Given the description of an element on the screen output the (x, y) to click on. 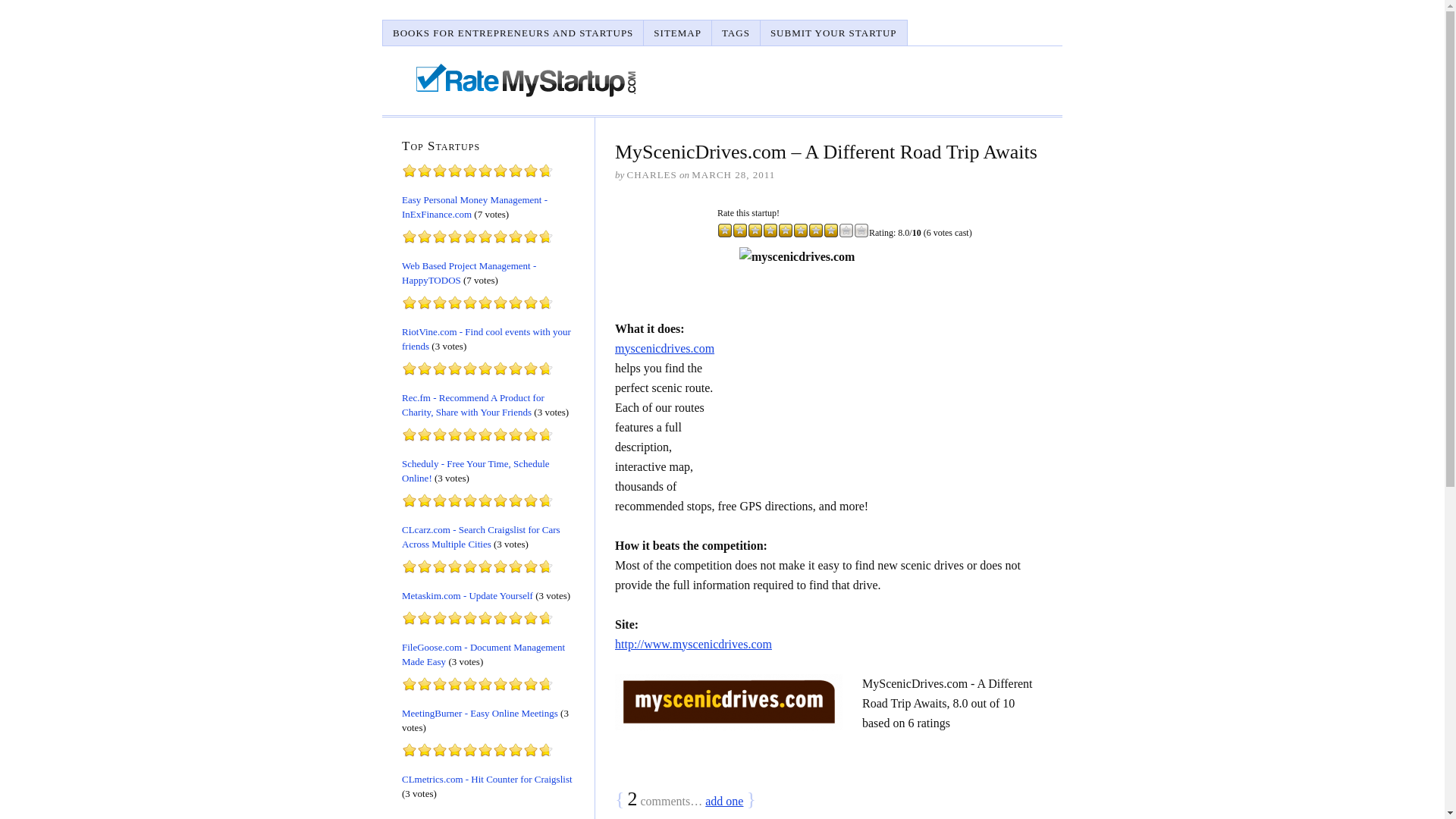
Easy Personal Money Management - InExFinance.com (474, 207)
TAGS (735, 32)
Scheduly - Free Your Time, Schedule Online! (475, 470)
SUBMIT YOUR STARTUP (833, 32)
Metaskim.com - Update Yourself (466, 595)
myscenicdrives.com (890, 361)
BOOKS FOR ENTREPRENEURS AND STARTUPS (512, 32)
MeetingBurner - Easy Online Meetings (479, 712)
Web Based Project Management - HappyTODOS (468, 272)
